Given the description of an element on the screen output the (x, y) to click on. 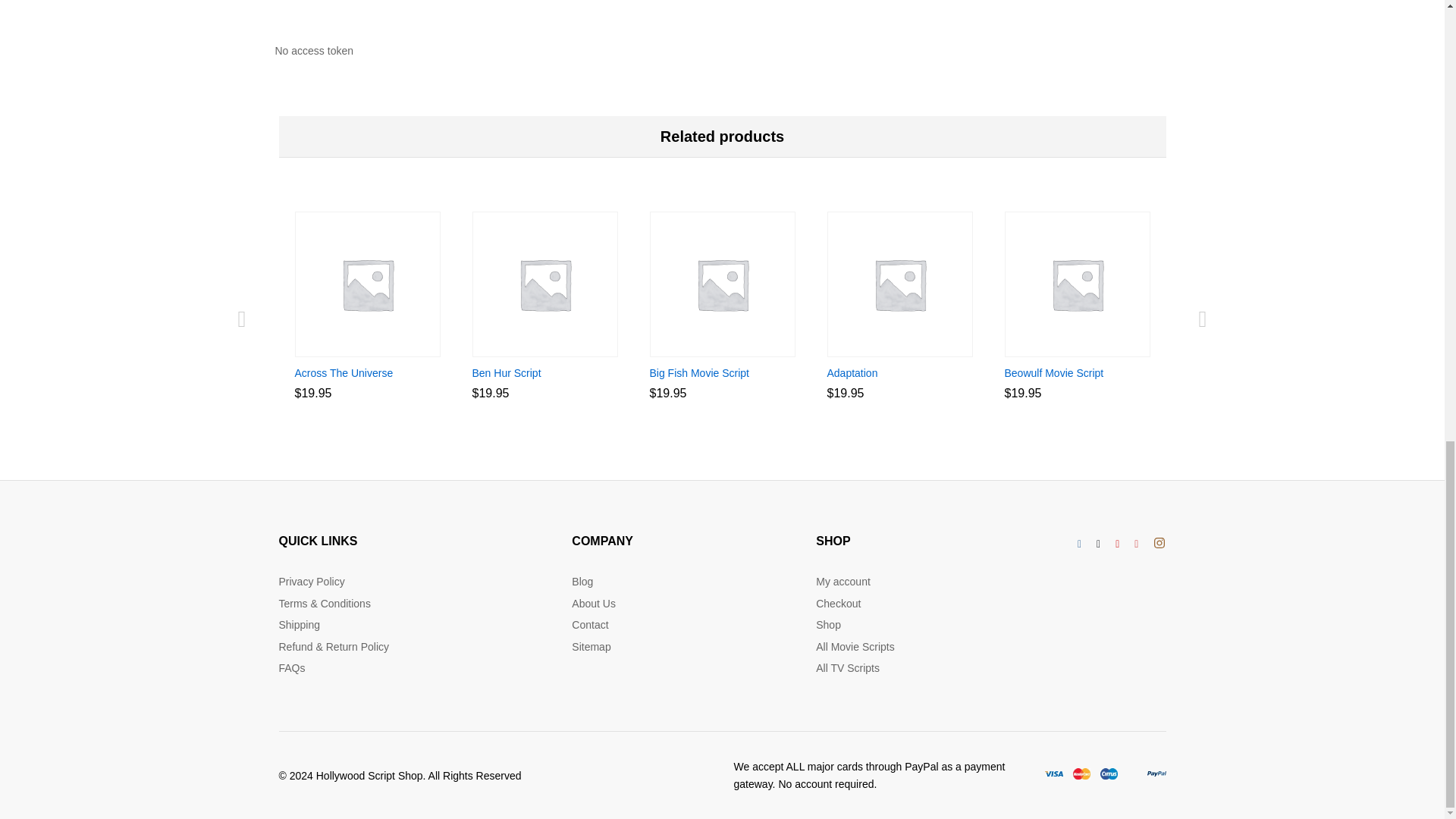
Across The Universe (343, 373)
